Given the description of an element on the screen output the (x, y) to click on. 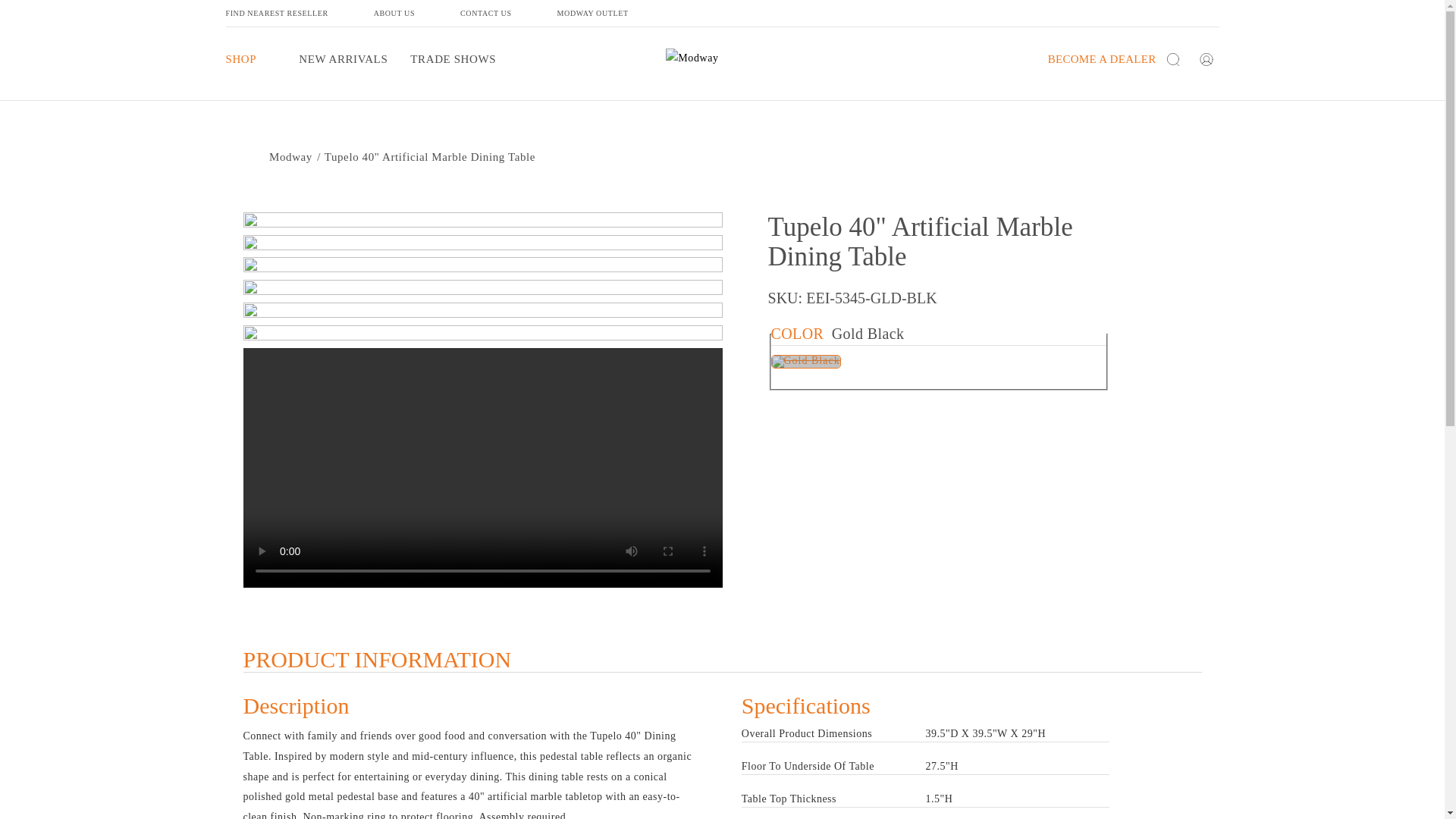
ABOUT US (417, 13)
FIND NEAREST RESELLER (299, 13)
MODWAY OUTLET (615, 13)
Skip to content (45, 16)
CONTACT US (508, 13)
